Given the description of an element on the screen output the (x, y) to click on. 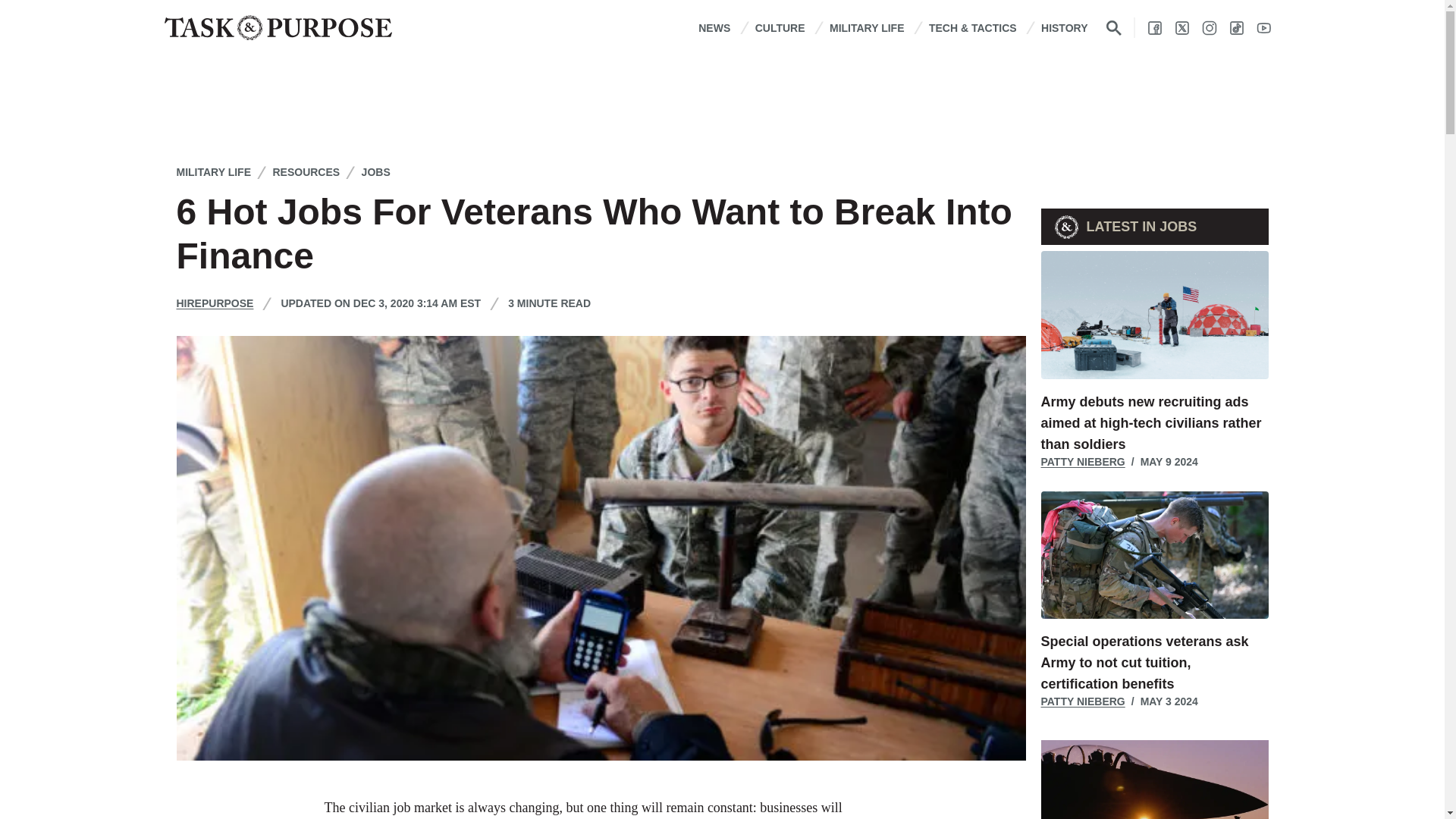
MILITARY LIFE (866, 27)
NEWS (714, 27)
CULTURE (780, 27)
